Given the description of an element on the screen output the (x, y) to click on. 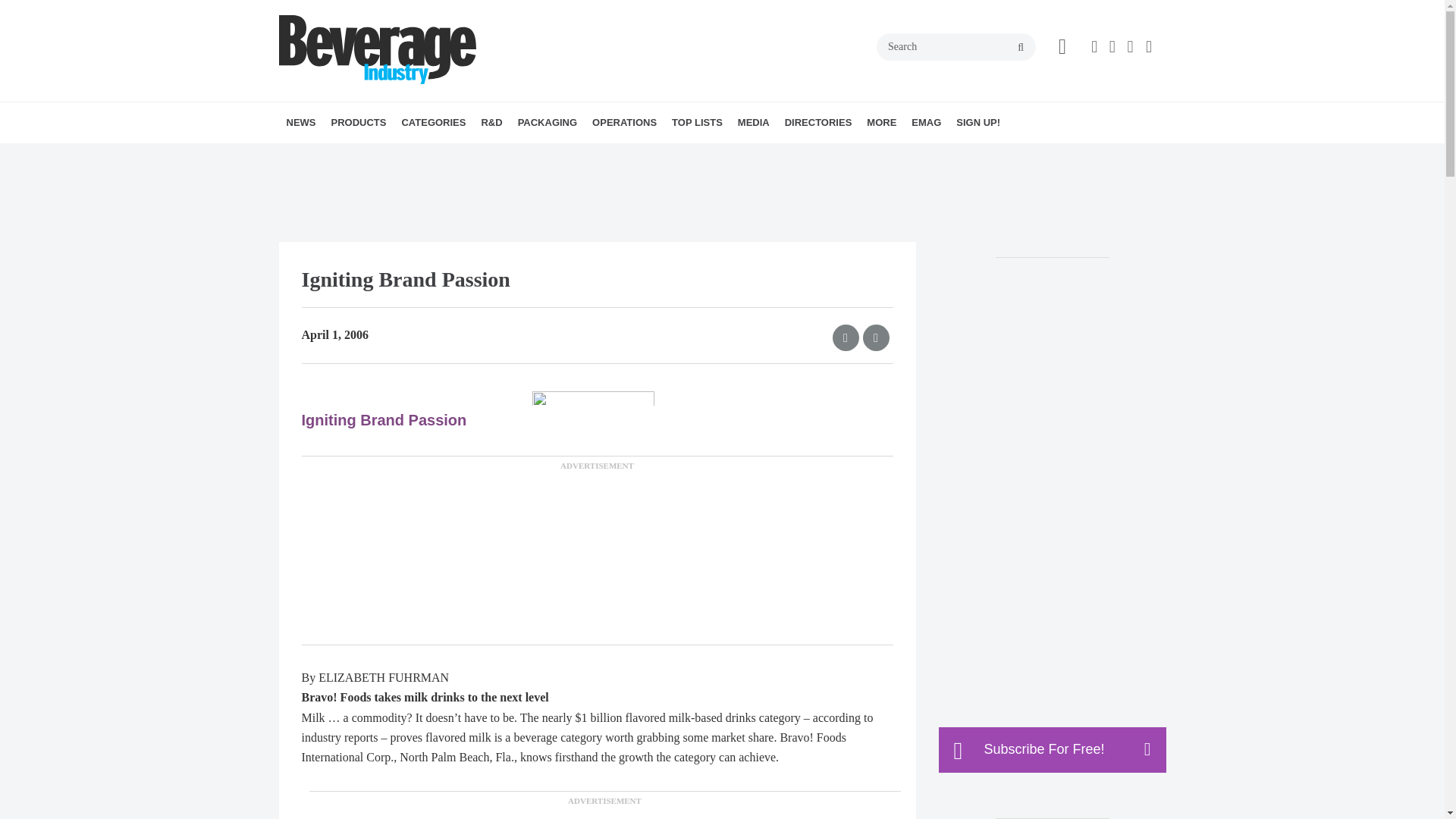
NEWS (301, 122)
facebook (1096, 46)
READER'S CHOICE POLL (424, 155)
CANNABIS BEVERAGES (507, 155)
SPORTS DRINKS (525, 155)
cart (1061, 46)
CATEGORIES (433, 122)
youtube (1150, 46)
INGREDIENT SPOTLIGHT (574, 155)
Search (955, 46)
linkedin (1131, 46)
search (1020, 47)
BEER (496, 155)
PACKAGING (548, 122)
TEA AND COFFEE (528, 155)
